Given the description of an element on the screen output the (x, y) to click on. 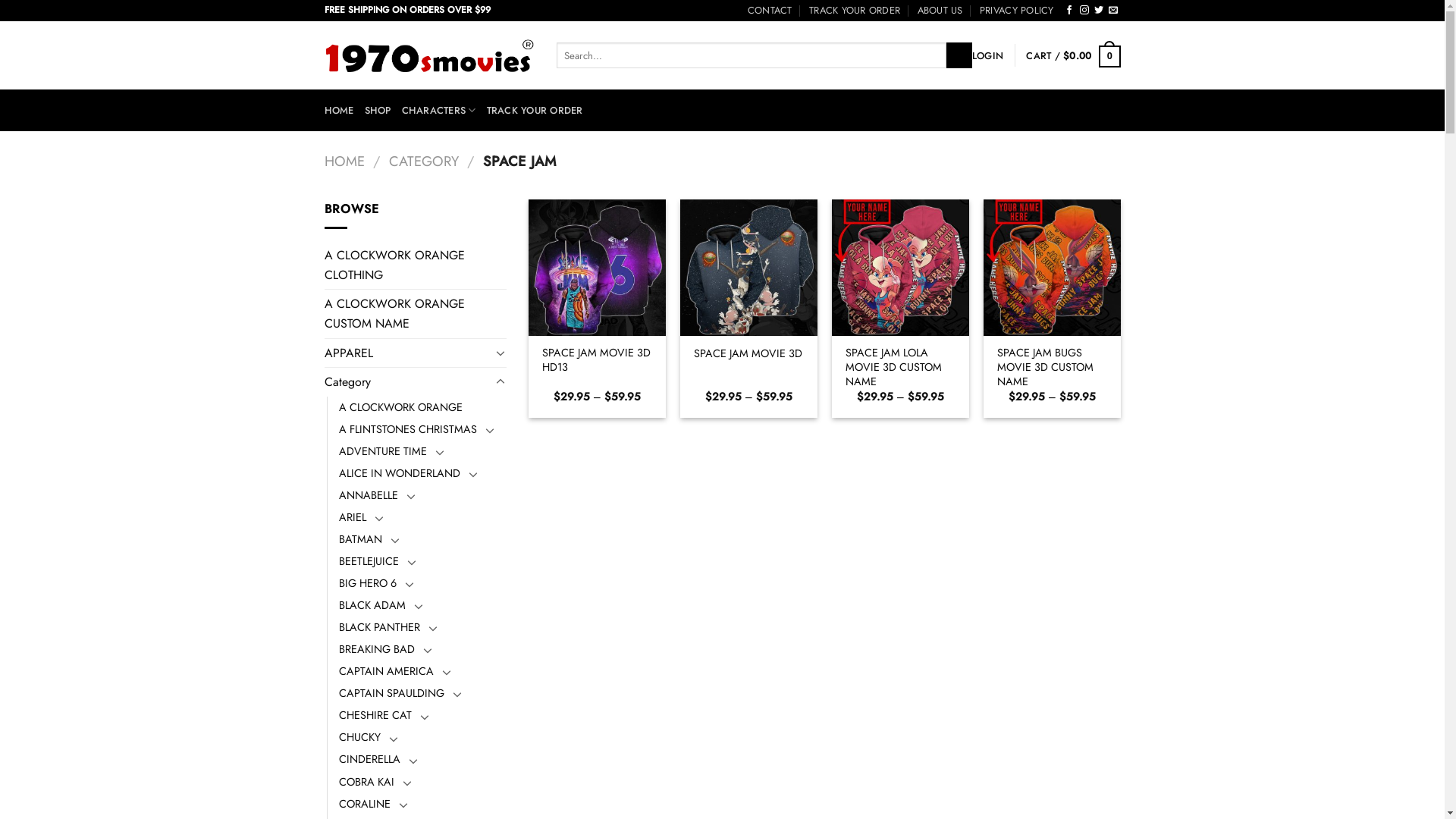
HOME Element type: text (339, 109)
CAPTAIN SPAULDING Element type: text (390, 693)
SPACE JAM MOVIE 3D Element type: text (747, 353)
BIG HERO 6 Element type: text (366, 583)
BATMAN Element type: text (359, 539)
SHOP Element type: text (377, 109)
TRACK YOUR ORDER Element type: text (534, 109)
ADVENTURE TIME Element type: text (382, 451)
A CLOCKWORK ORANGE CLOTHING Element type: text (415, 264)
ABOUT US Element type: text (940, 10)
HOME Element type: text (344, 160)
CHUCKY Element type: text (358, 737)
COBRA KAI Element type: text (365, 781)
ALICE IN WONDERLAND Element type: text (398, 473)
ARIEL Element type: text (351, 517)
Category Element type: text (407, 381)
Search Element type: text (959, 55)
CONTACT Element type: text (769, 10)
ANNABELLE Element type: text (367, 495)
BREAKING BAD Element type: text (376, 649)
A CLOCKWORK ORANGE CUSTOM NAME Element type: text (415, 313)
BLACK ADAM Element type: text (371, 605)
BEETLEJUICE Element type: text (368, 561)
SPACE JAM BUGS MOVIE 3D CUSTOM NAME Element type: text (1052, 366)
CINDERELLA Element type: text (368, 759)
A CLOCKWORK ORANGE Element type: text (399, 407)
BLACK PANTHER Element type: text (378, 627)
CART / $0.00
0 Element type: text (1073, 54)
CHESHIRE CAT Element type: text (374, 715)
CAPTAIN AMERICA Element type: text (385, 671)
TRACK YOUR ORDER Element type: text (854, 10)
PRIVACY POLICY Element type: text (1016, 10)
APPAREL Element type: text (407, 352)
CATEGORY Element type: text (423, 160)
A FLINTSTONES CHRISTMAS Element type: text (407, 429)
SPACE JAM MOVIE 3D HD13 Element type: text (597, 359)
CORALINE Element type: text (363, 804)
LOGIN Element type: text (987, 54)
CHARACTERS Element type: text (438, 110)
SPACE JAM LOLA MOVIE 3D CUSTOM NAME Element type: text (900, 366)
